Given the description of an element on the screen output the (x, y) to click on. 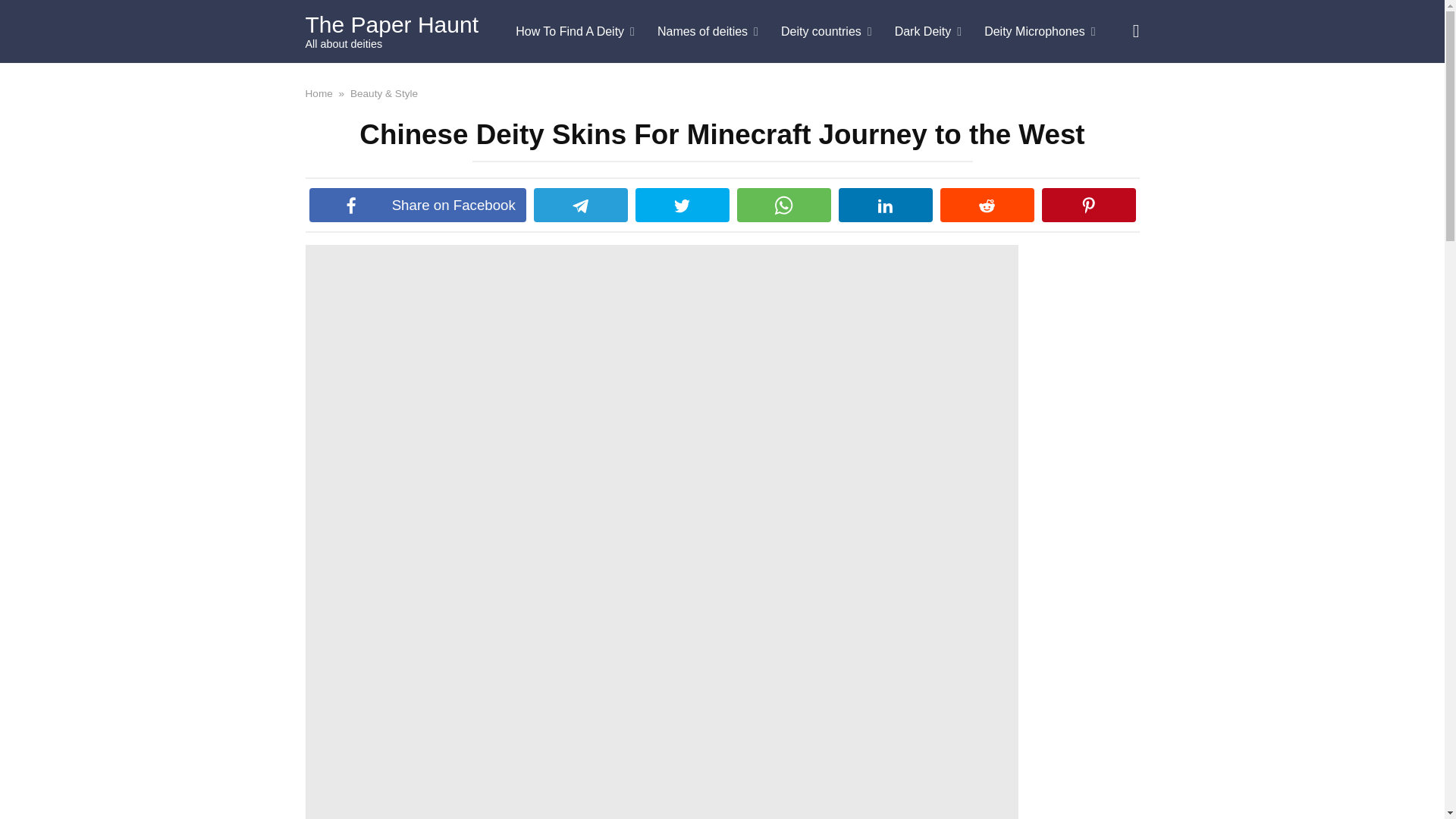
The Paper Haunt (390, 24)
How To Find A Deity (574, 31)
Dark Deity (928, 31)
Deity countries (826, 31)
Names of deities (708, 31)
